Given the description of an element on the screen output the (x, y) to click on. 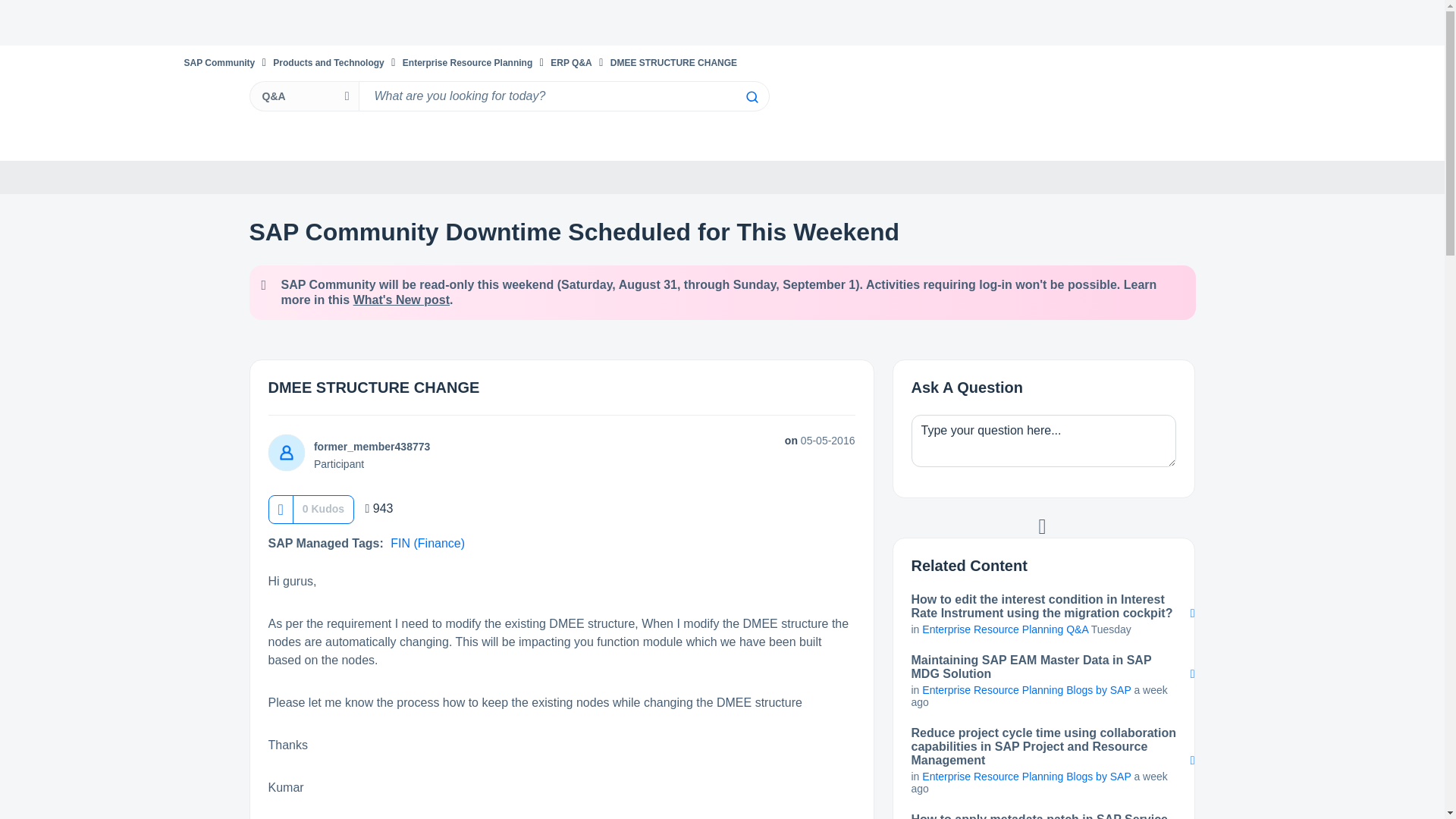
What's New post (401, 299)
Enterprise Resource Planning (467, 62)
The total number of kudos this post has received. (323, 508)
Click here to give kudos to this post. (279, 509)
Search Granularity (303, 96)
Search (750, 96)
Products and Technology (328, 62)
Search (750, 96)
Search (563, 96)
Search (750, 96)
